Given the description of an element on the screen output the (x, y) to click on. 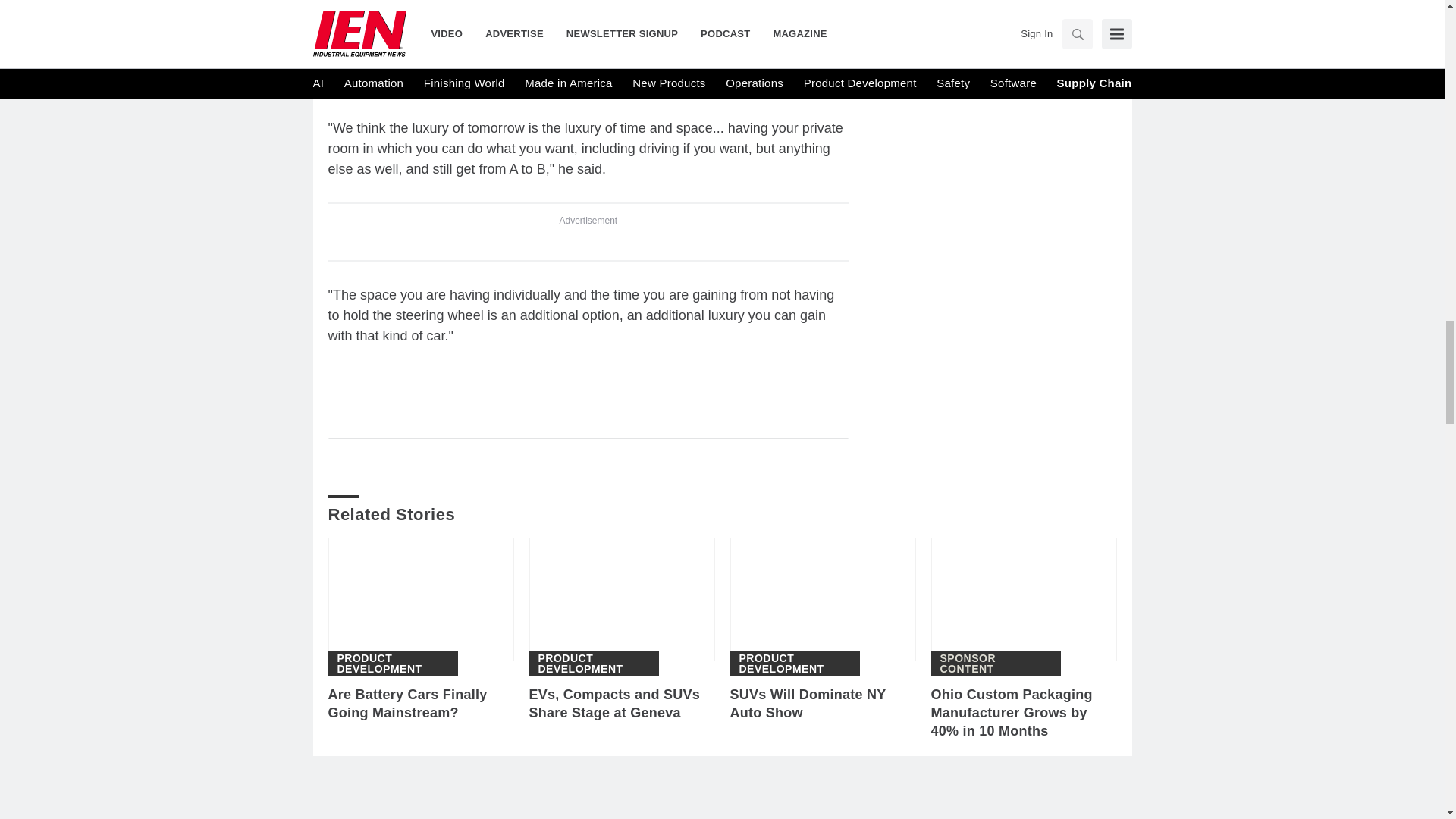
Sponsor Content (996, 663)
Product Development (392, 663)
Product Development (794, 663)
Product Development (594, 663)
